Given the description of an element on the screen output the (x, y) to click on. 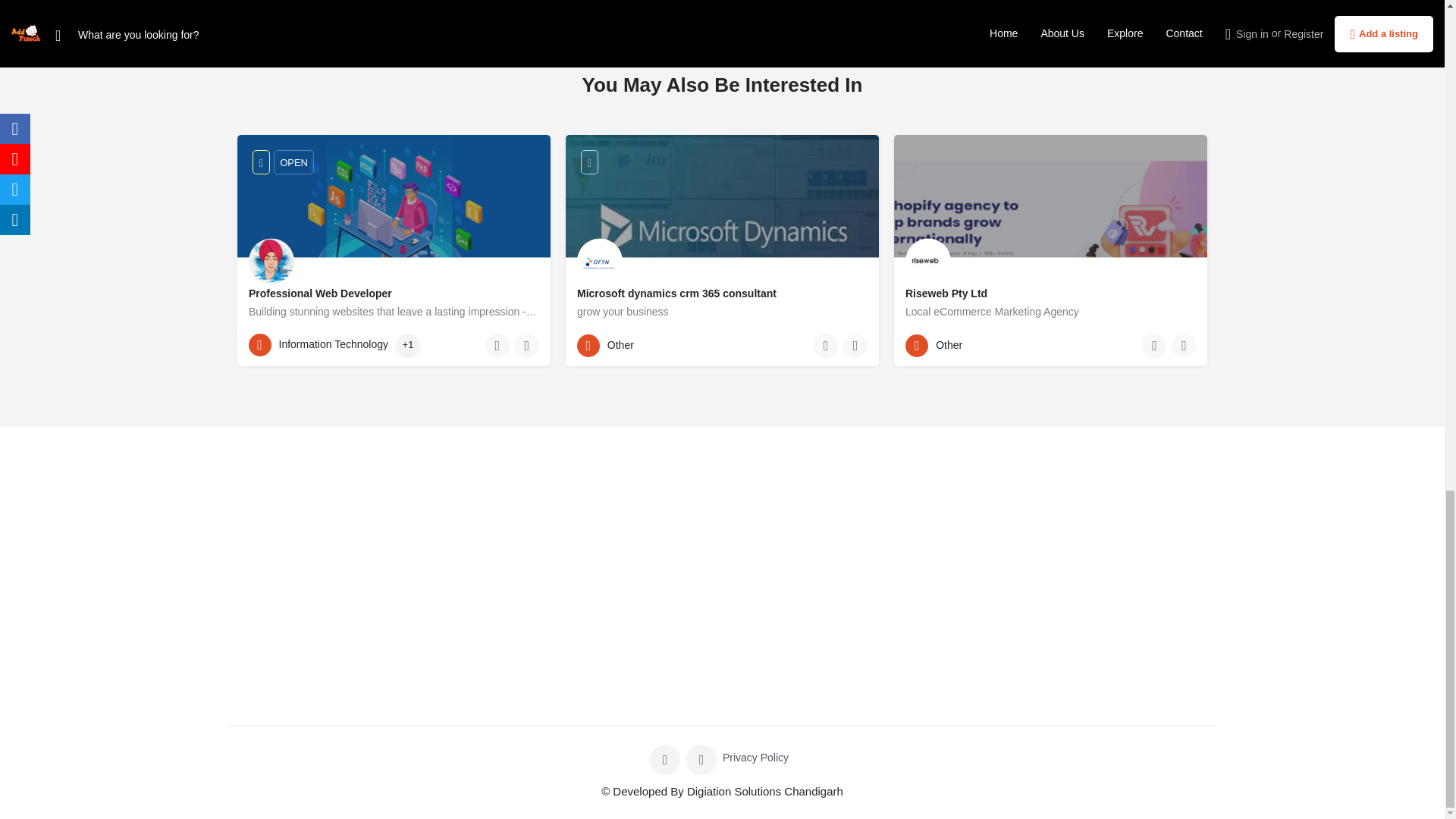
Advertisement (392, 571)
